Given the description of an element on the screen output the (x, y) to click on. 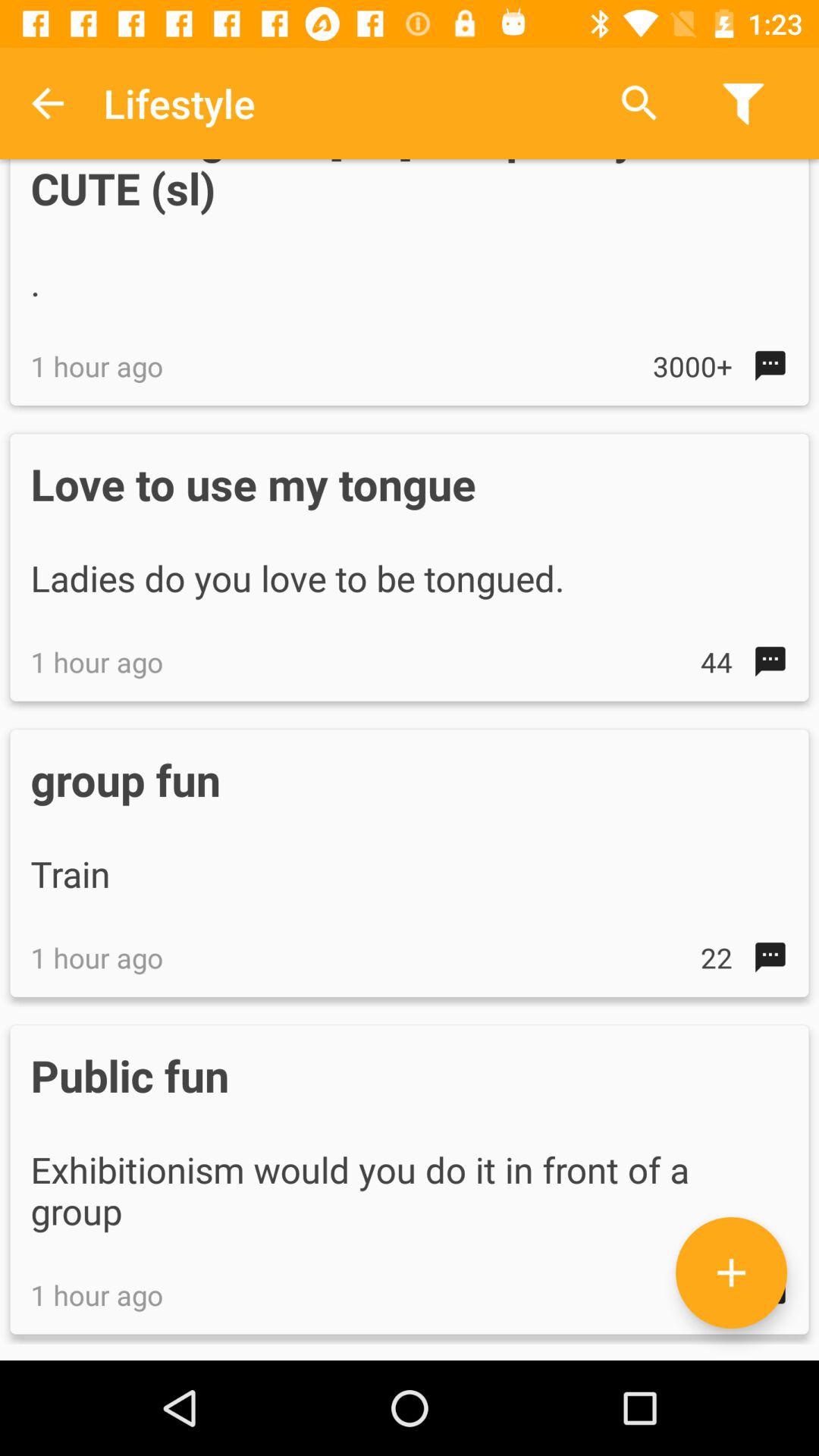
shows plus icon (731, 1272)
